Given the description of an element on the screen output the (x, y) to click on. 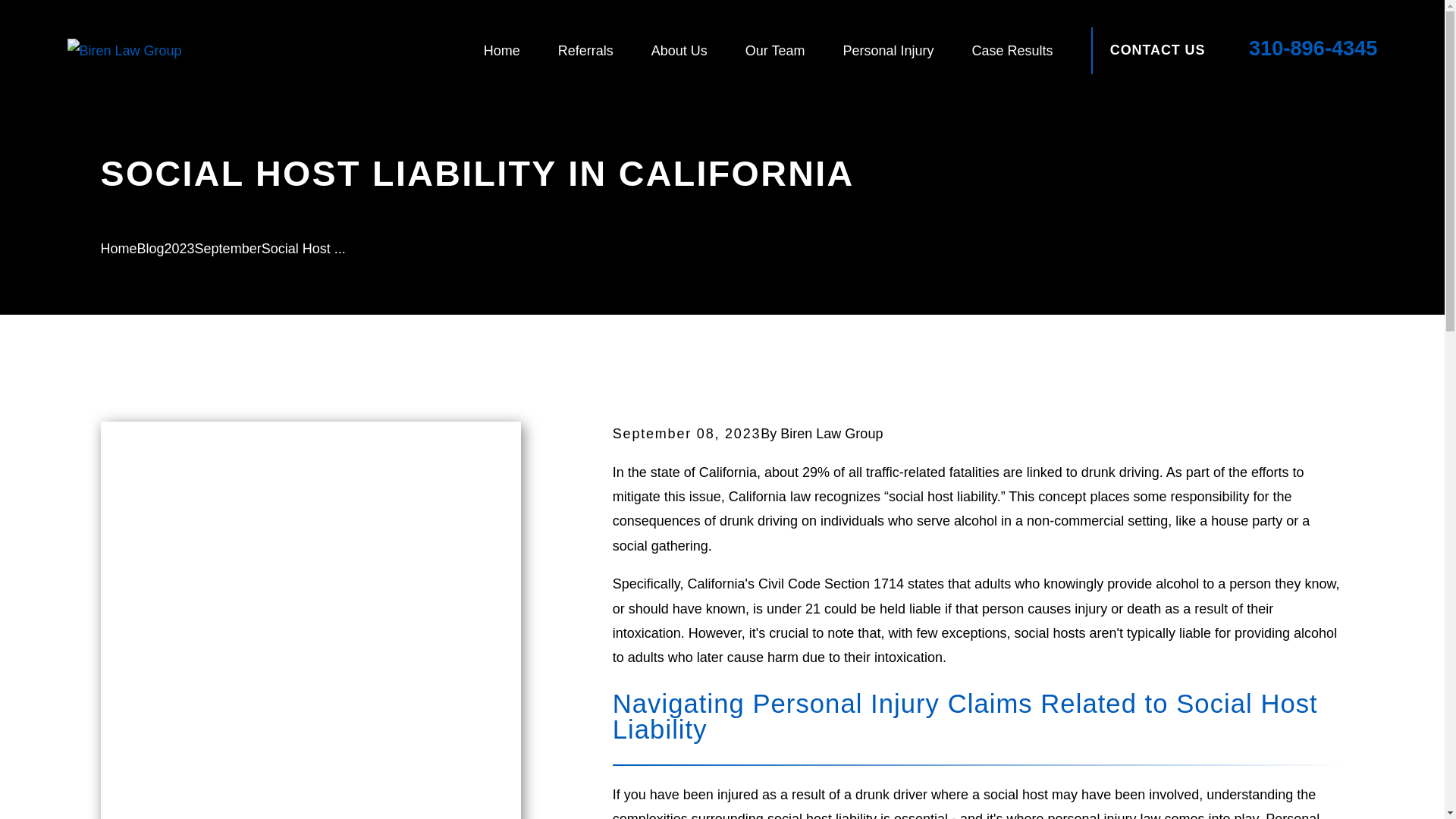
Referrals (584, 50)
Our Team (775, 50)
Home (123, 50)
About Us (678, 50)
Personal Injury (888, 50)
Go Home (118, 248)
